Given the description of an element on the screen output the (x, y) to click on. 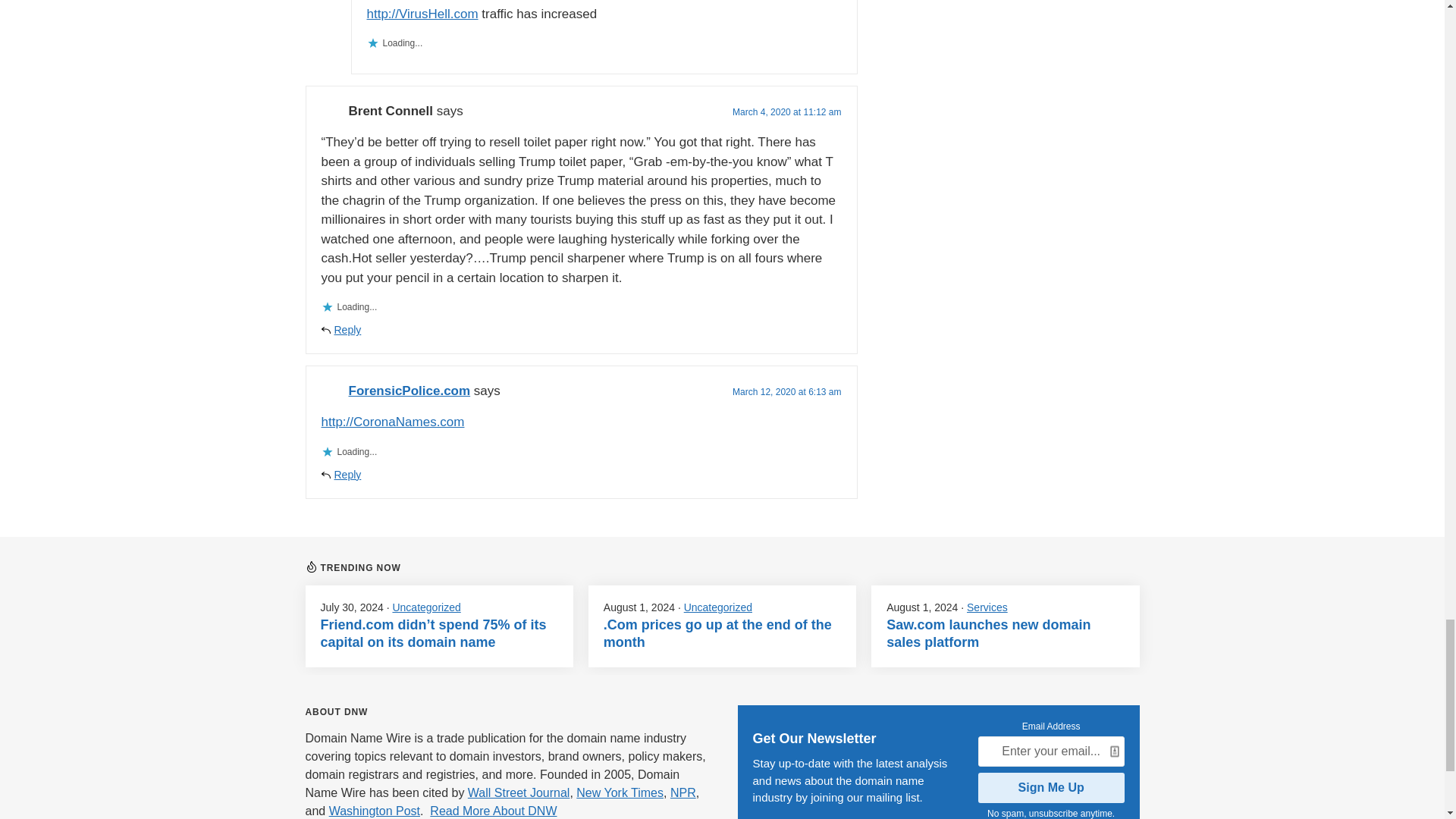
Sign Me Up (1051, 788)
